Given the description of an element on the screen output the (x, y) to click on. 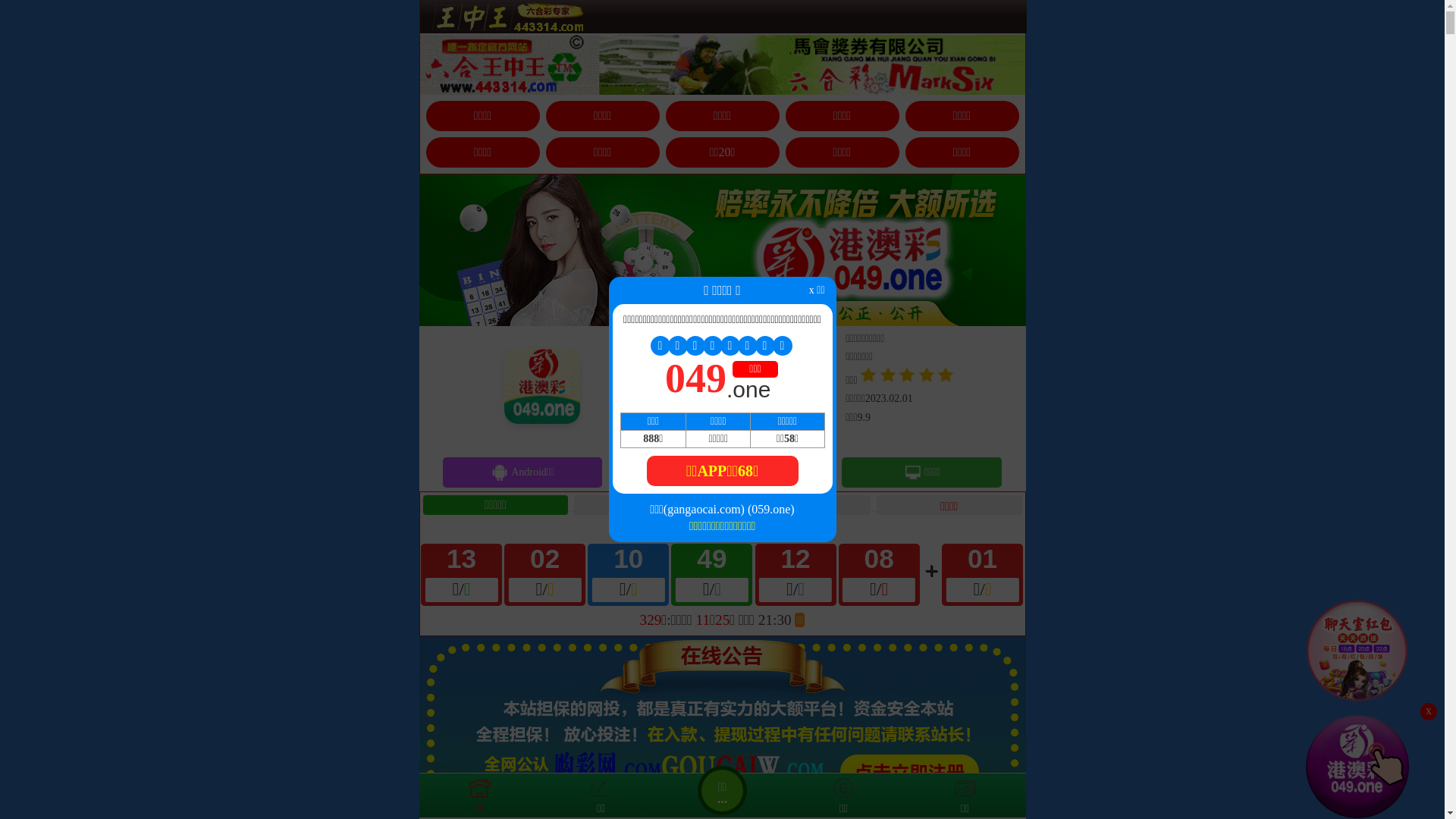
x Element type: text (1428, 711)
